Given the description of an element on the screen output the (x, y) to click on. 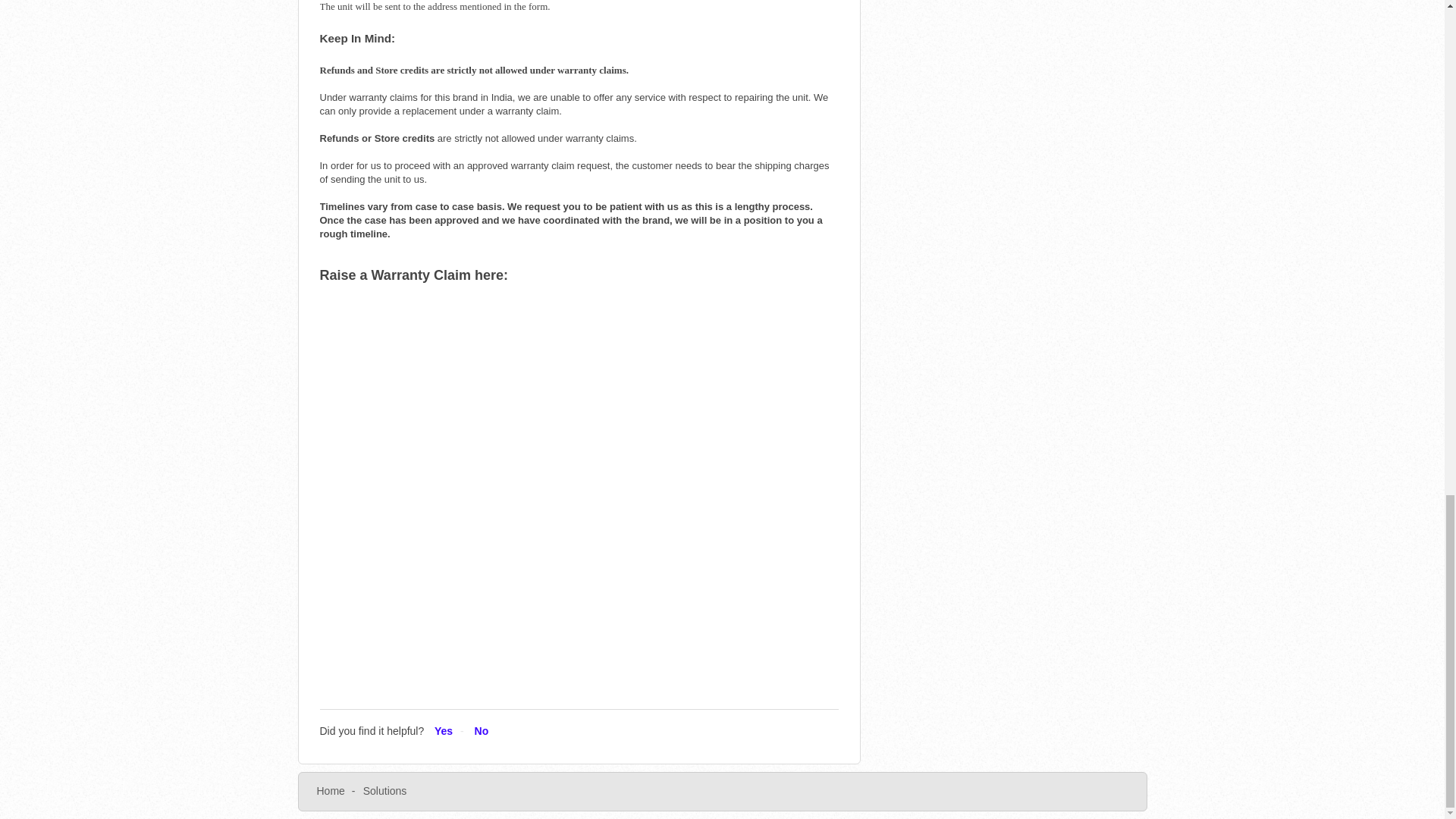
Solutions (384, 790)
Home (331, 790)
